Given the description of an element on the screen output the (x, y) to click on. 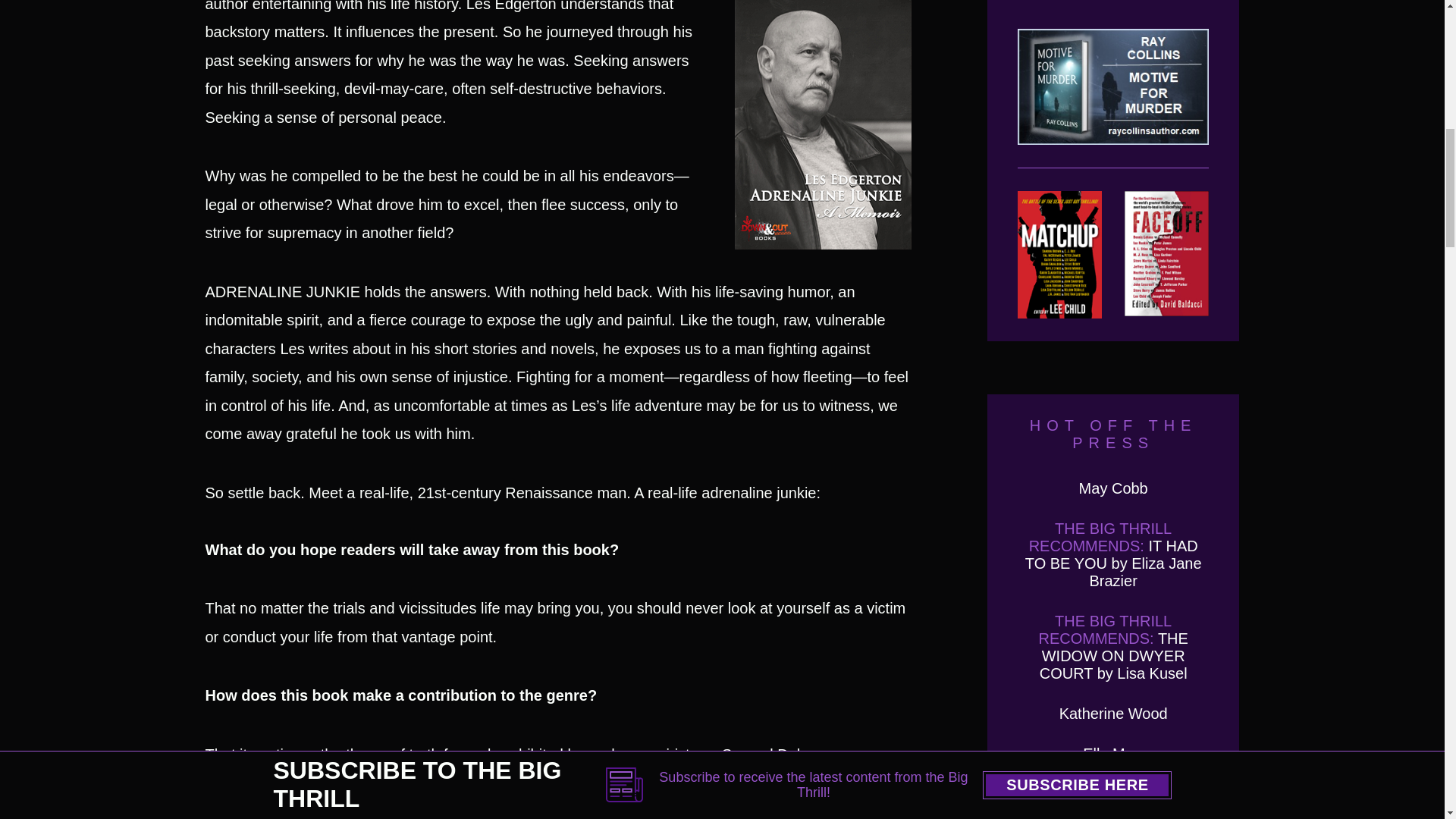
The Big Thrill Recommends: SANCTUARY by Holly S. Roberts (1112, 802)
Elle Marr (1112, 753)
Motive for Murder by Ray Collins (1113, 98)
MATCH UP! In Stores Now! (1059, 254)
Katherine Wood (1113, 713)
FACEOFF! In Stores Now! (1166, 254)
May Cobb (1113, 487)
